Given the description of an element on the screen output the (x, y) to click on. 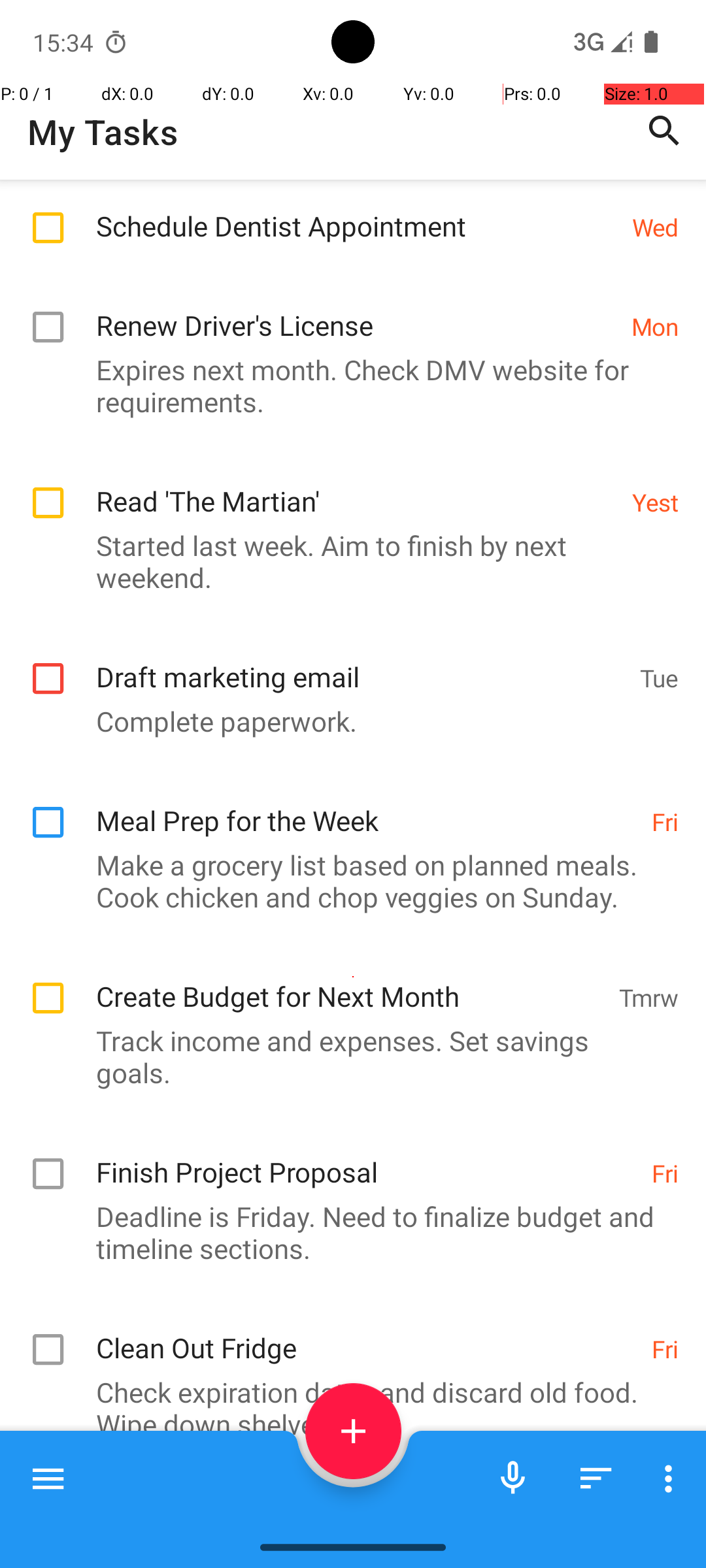
Draft marketing email Element type: android.widget.TextView (361, 662)
Complete paperwork. Element type: android.widget.TextView (346, 720)
